Given the description of an element on the screen output the (x, y) to click on. 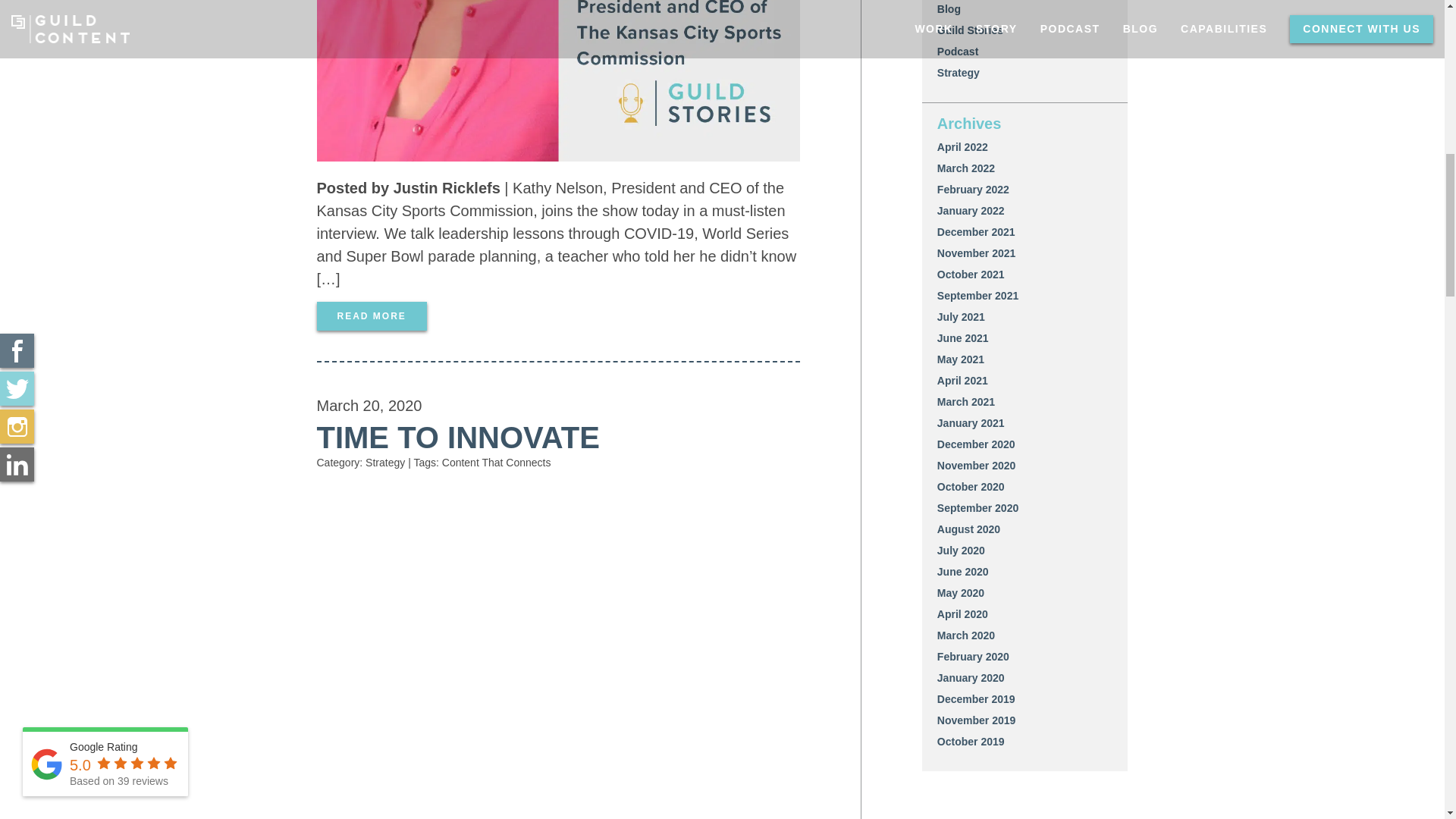
Content That Connects (496, 462)
Strategy (384, 462)
Podcast (957, 51)
Posts by Justin Ricklefs (446, 187)
Justin Ricklefs (446, 187)
READ MORE (371, 316)
Blog (948, 9)
Guild Stories (970, 30)
TIME TO INNOVATE (458, 437)
